Given the description of an element on the screen output the (x, y) to click on. 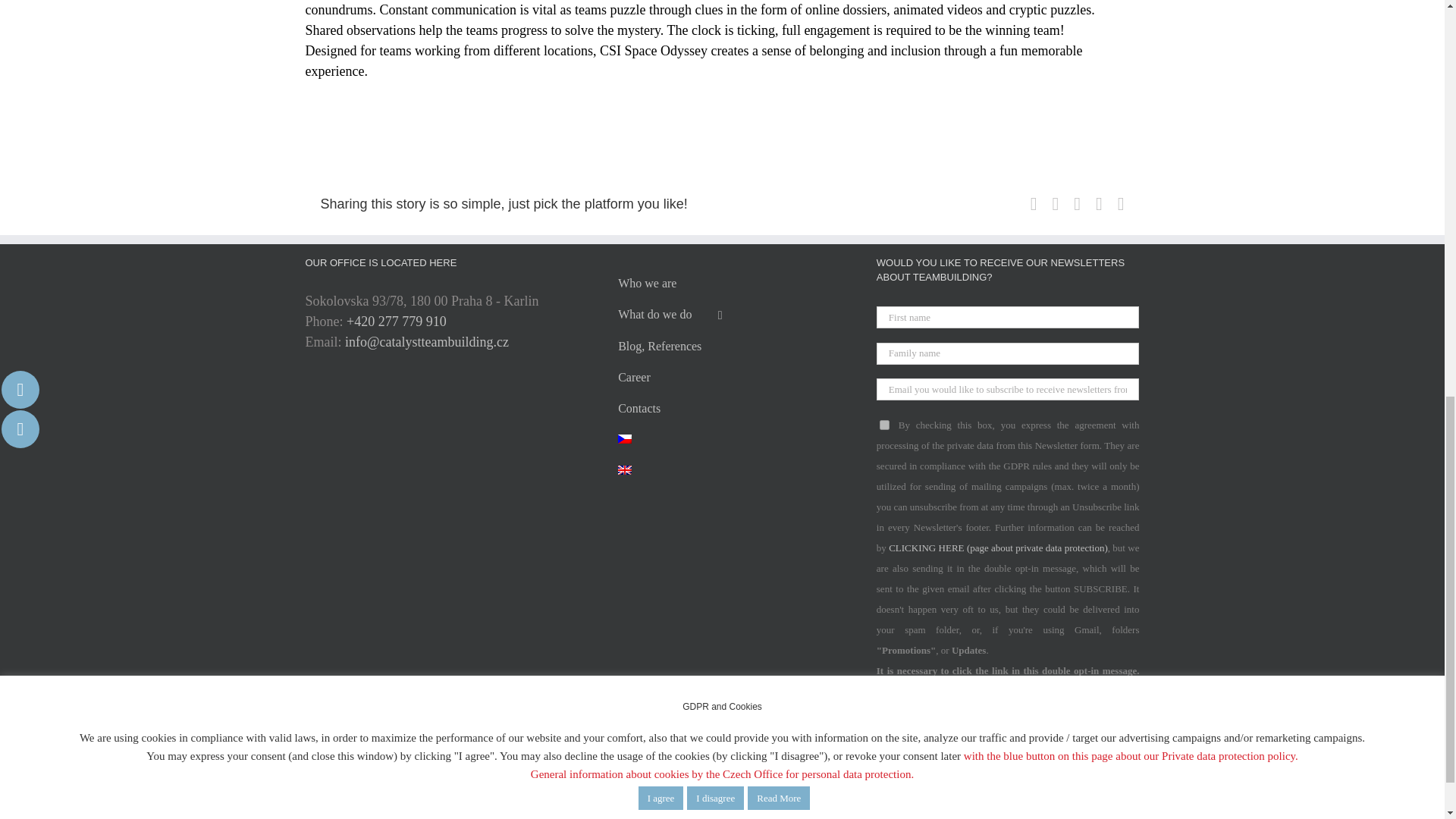
SUBSCRIBE (919, 771)
on (884, 424)
